Given the description of an element on the screen output the (x, y) to click on. 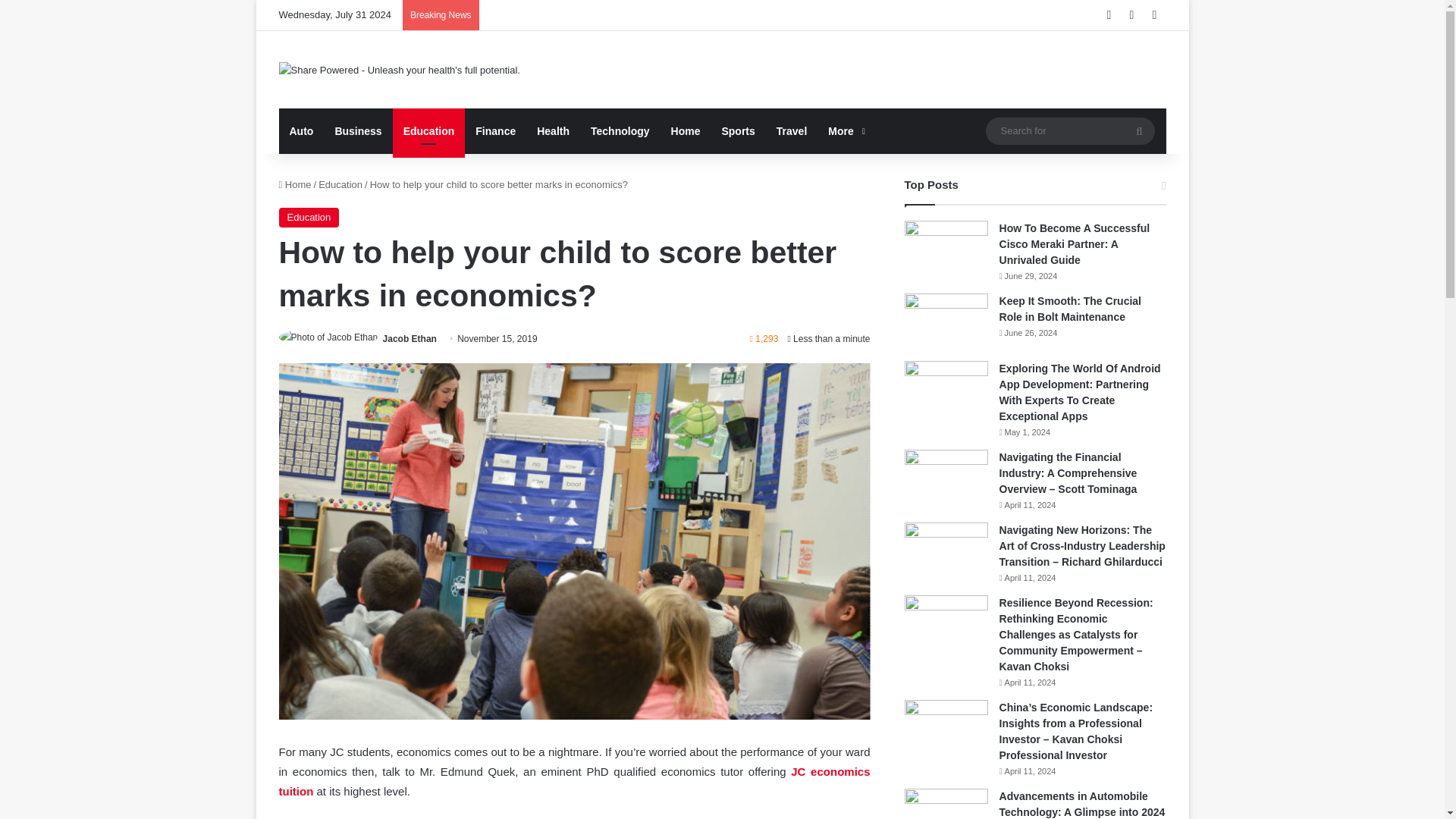
Education (340, 184)
Finance (494, 130)
Search for (1139, 130)
Home (686, 130)
Jacob Ethan (409, 338)
Auto (301, 130)
Share Powered - Unleash your health's full potential. (399, 69)
Education (309, 217)
JC economics tuition (574, 780)
Search for (1069, 130)
Technology (620, 130)
More (844, 130)
Jacob Ethan (409, 338)
Business (357, 130)
Education (429, 130)
